Given the description of an element on the screen output the (x, y) to click on. 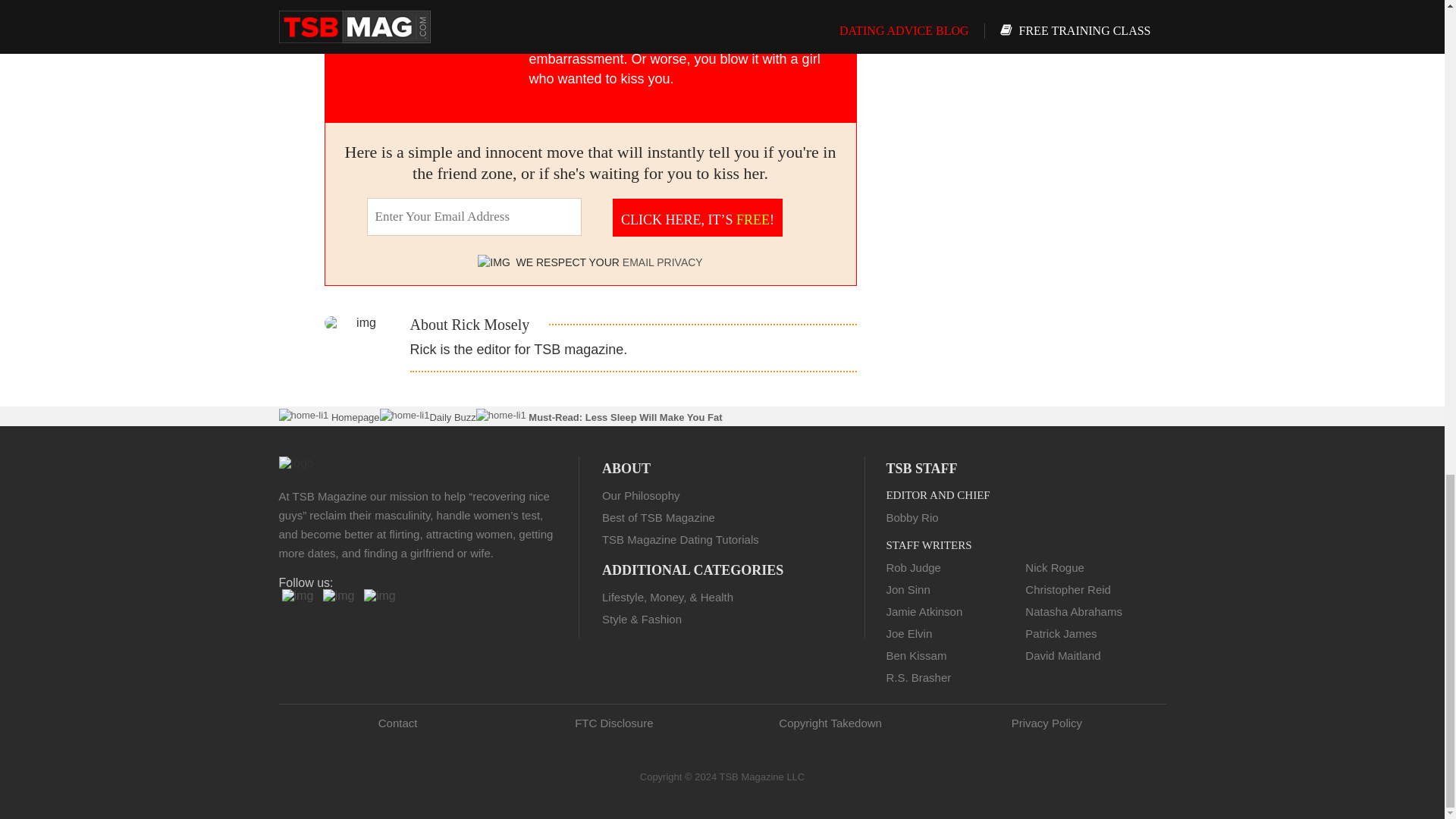
Bobby Rio (911, 517)
Natasha Abrahams (1073, 611)
Jamie Atkinson (923, 611)
Daily Buzz (452, 417)
Joe Elvin (908, 633)
David Maitland (1062, 655)
Patrick James (1060, 633)
EMAIL PRIVACY (663, 262)
Rob Judge (912, 567)
Ben Kissam (915, 655)
